Given the description of an element on the screen output the (x, y) to click on. 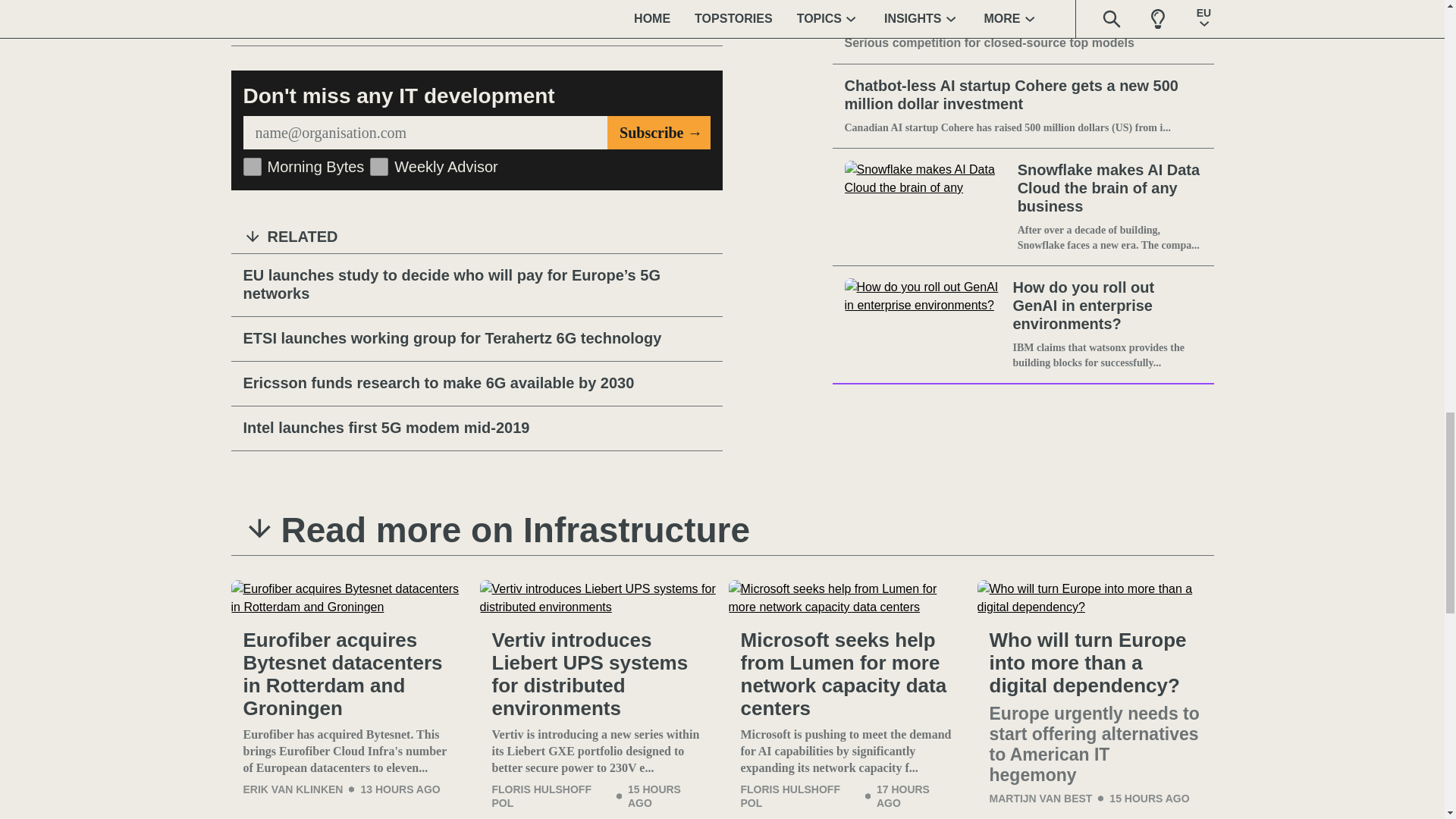
ETSI launches working group for Terahertz 6G technology (476, 338)
84623970802861205 (251, 167)
Snowflake makes AI Data Cloud the brain of any business (1109, 188)
Snowflake makes AI Data Cloud the brain of any business (927, 206)
Intel launches first 5G modem mid-2019 (476, 428)
Ericsson funds research to make 6G available by 2030 (476, 383)
How do you roll out GenAI in enterprise environments? (1106, 306)
How do you roll out GenAI in enterprise environments? (925, 324)
84623981521405447 (378, 167)
